Given the description of an element on the screen output the (x, y) to click on. 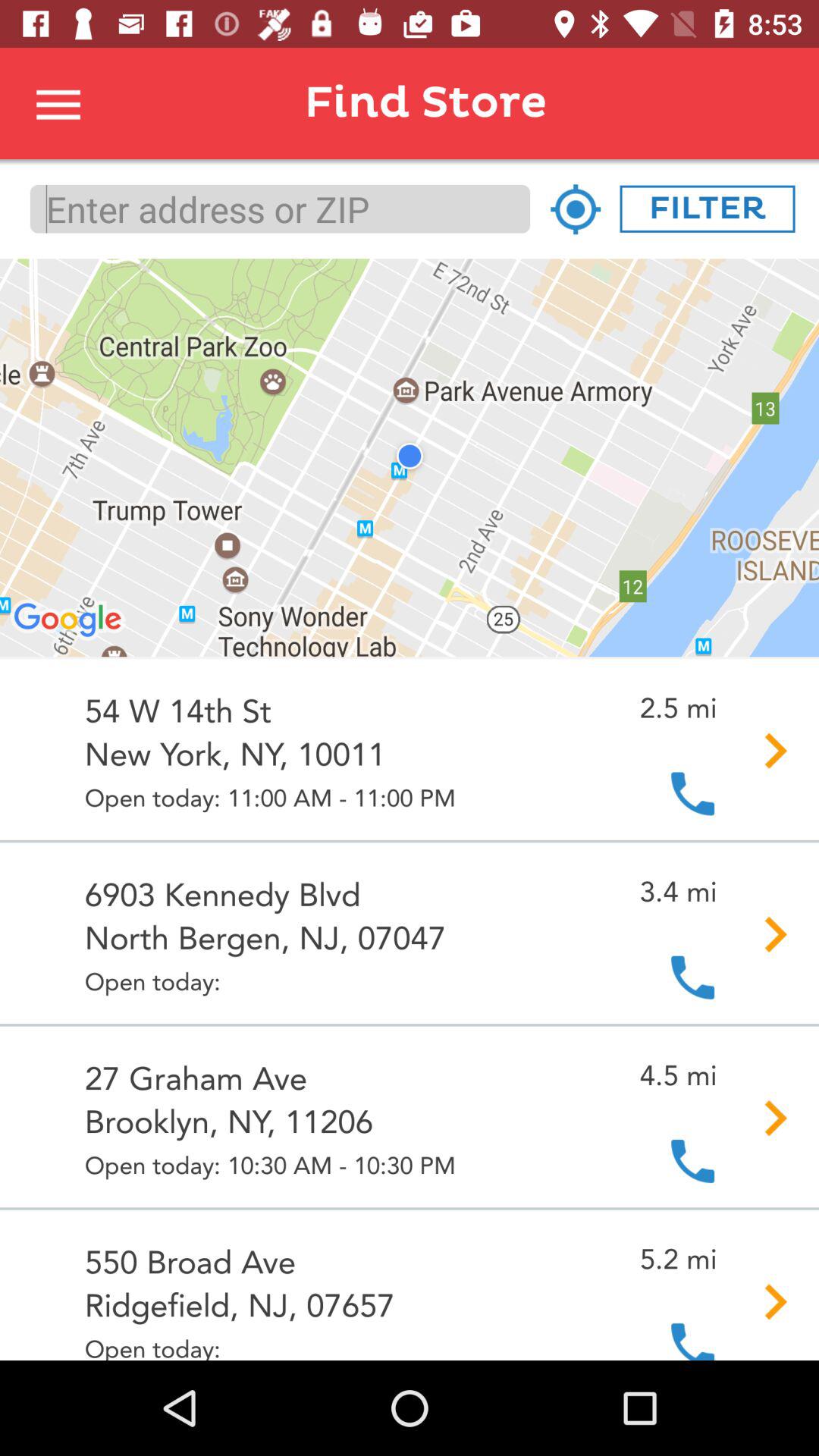
open menu (59, 103)
